Given the description of an element on the screen output the (x, y) to click on. 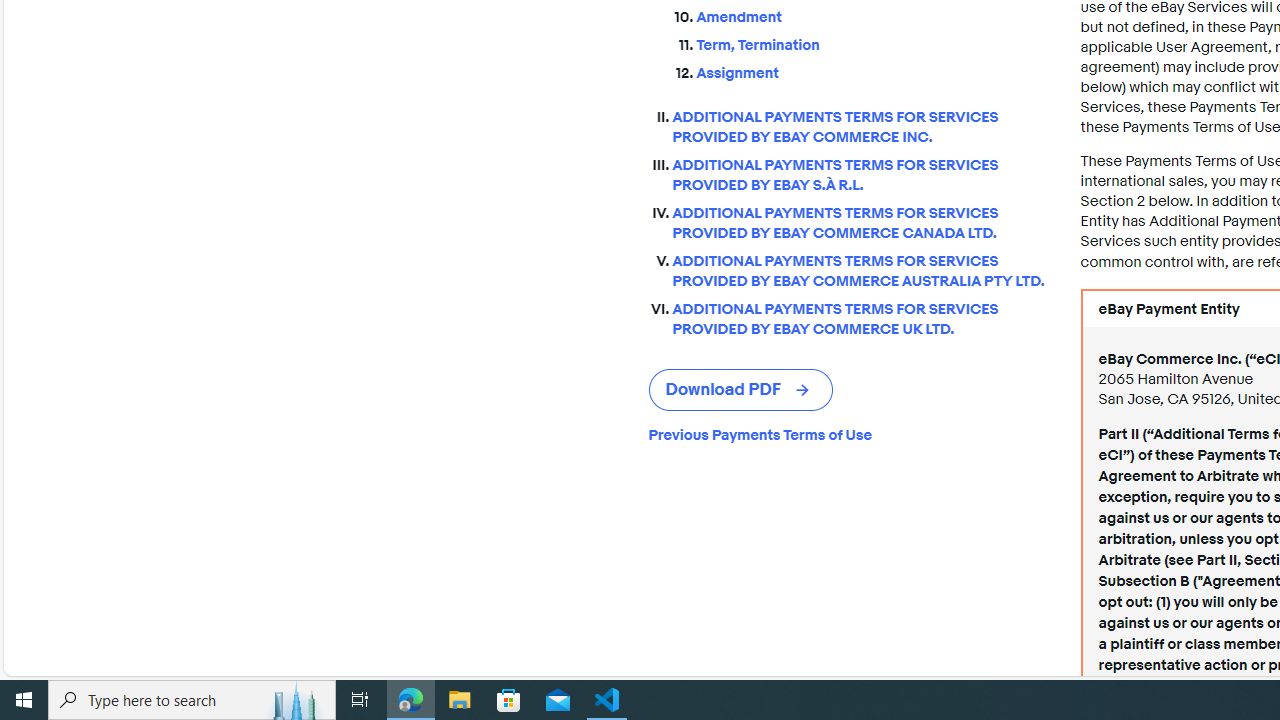
Amendment (872, 17)
